Given the description of an element on the screen output the (x, y) to click on. 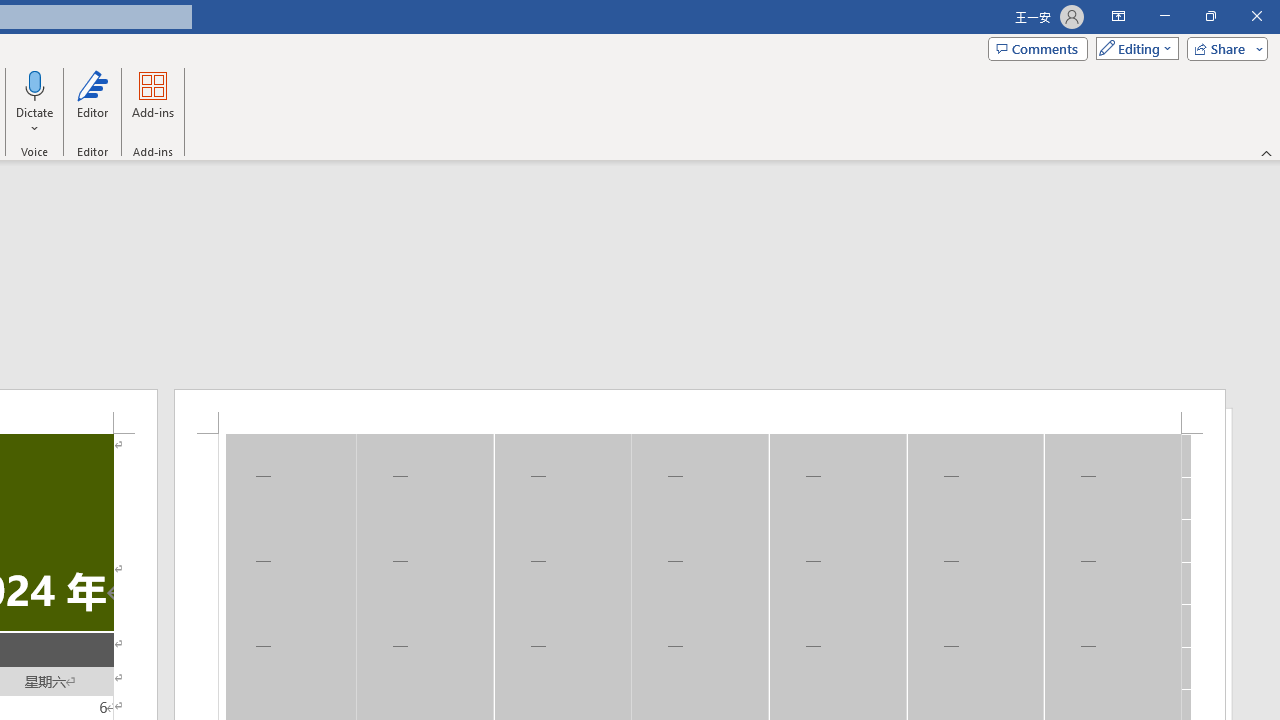
Header -Section 1- (700, 411)
Collapse the Ribbon (1267, 152)
Ribbon Display Options (1118, 16)
Comments (1038, 48)
Editor (92, 102)
